Given the description of an element on the screen output the (x, y) to click on. 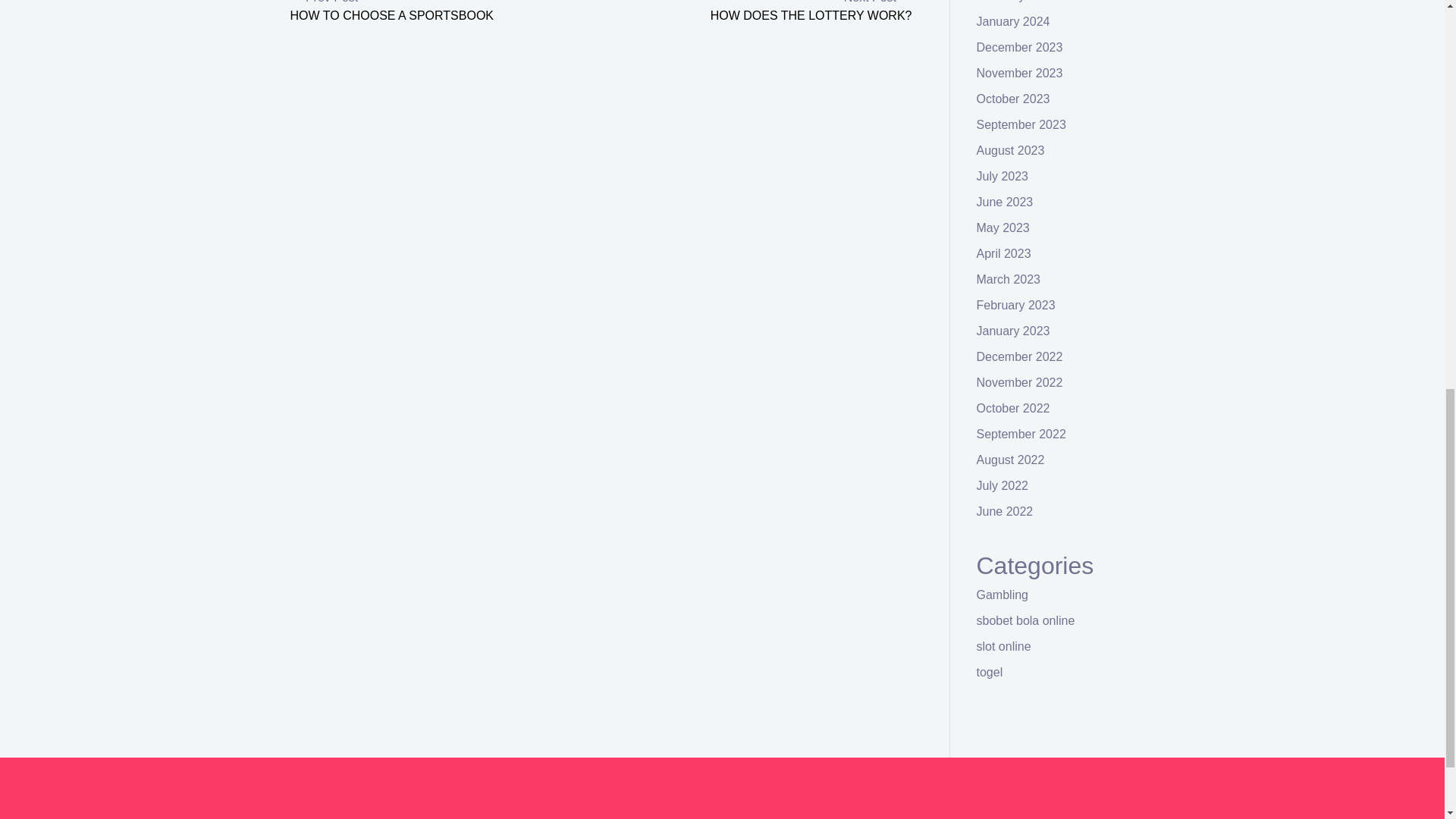
February 2024 (1015, 1)
January 2023 (1012, 330)
May 2023 (1002, 227)
February 2023 (1015, 305)
November 2023 (1019, 72)
September 2022 (1020, 433)
July 2023 (1002, 175)
October 2022 (1012, 408)
September 2023 (1020, 124)
November 2022 (1019, 382)
July 2022 (1002, 485)
October 2023 (1012, 98)
August 2022 (1010, 459)
January 2024 (1012, 21)
August 2023 (1010, 150)
